Given the description of an element on the screen output the (x, y) to click on. 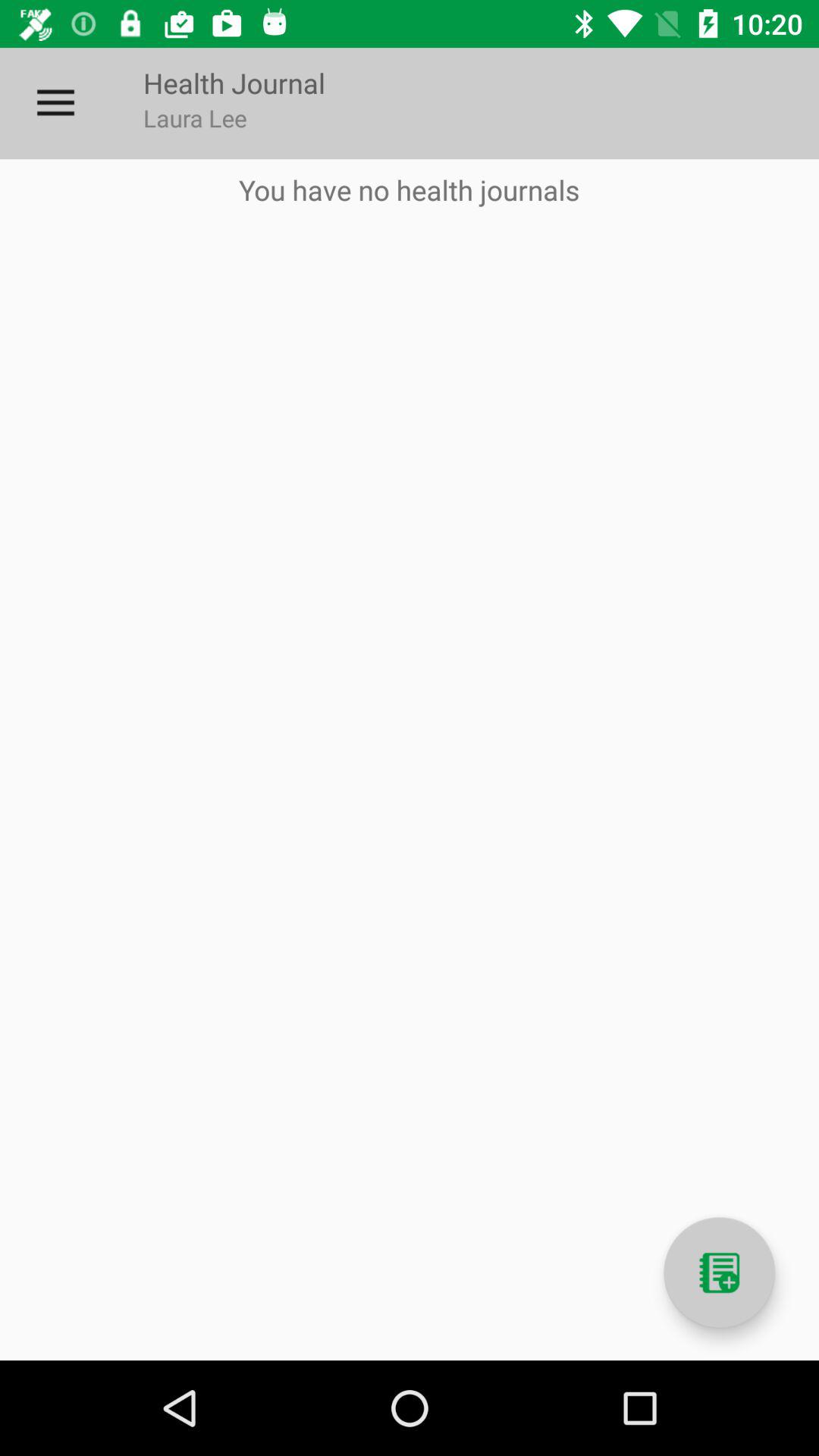
turn on the icon to the left of the health journal item (55, 103)
